Given the description of an element on the screen output the (x, y) to click on. 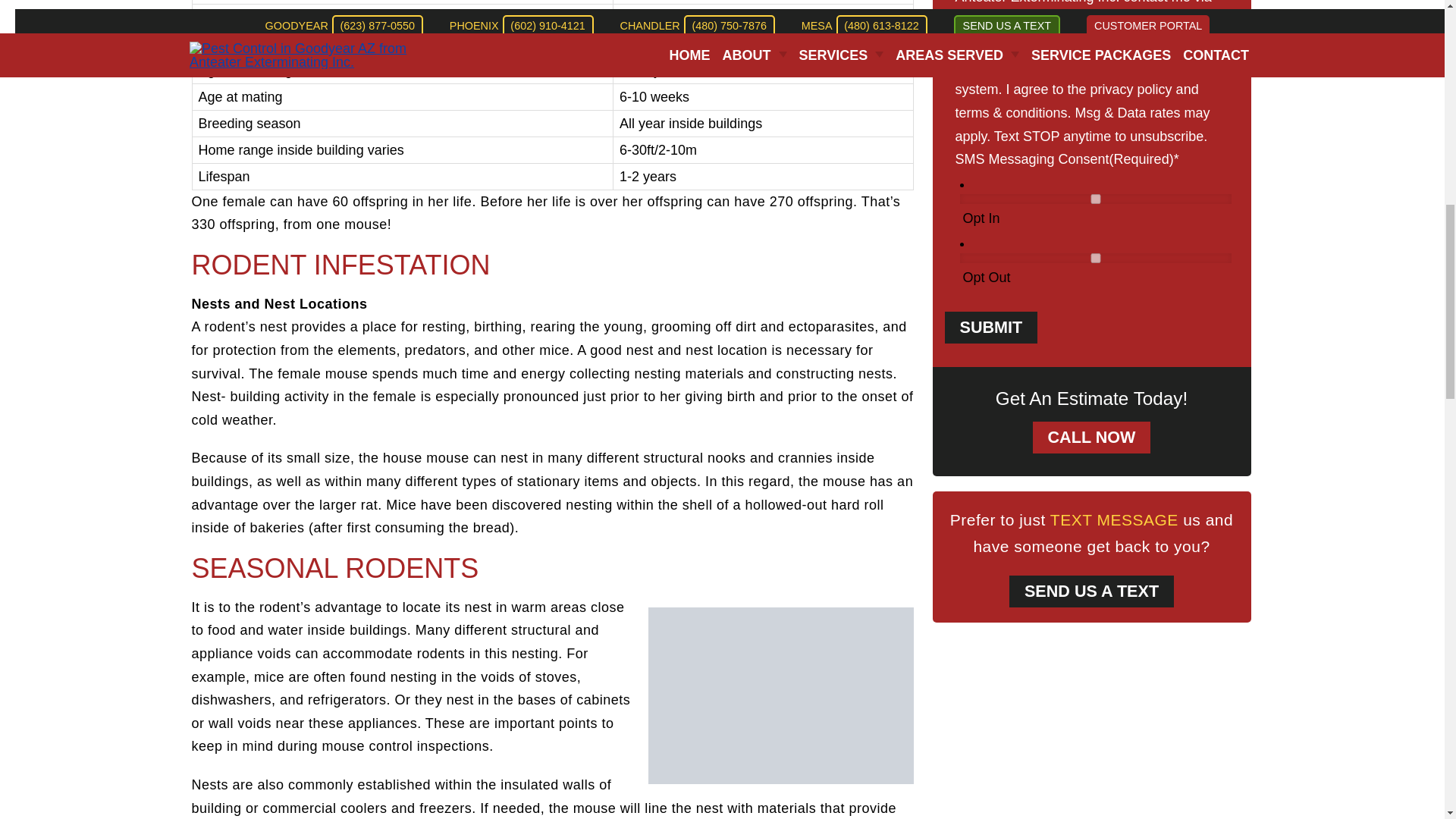
Opt In (1095, 198)
Get Rid Of Mice Scottsdale (779, 695)
Opt Out (1095, 257)
Submit (991, 327)
